Given the description of an element on the screen output the (x, y) to click on. 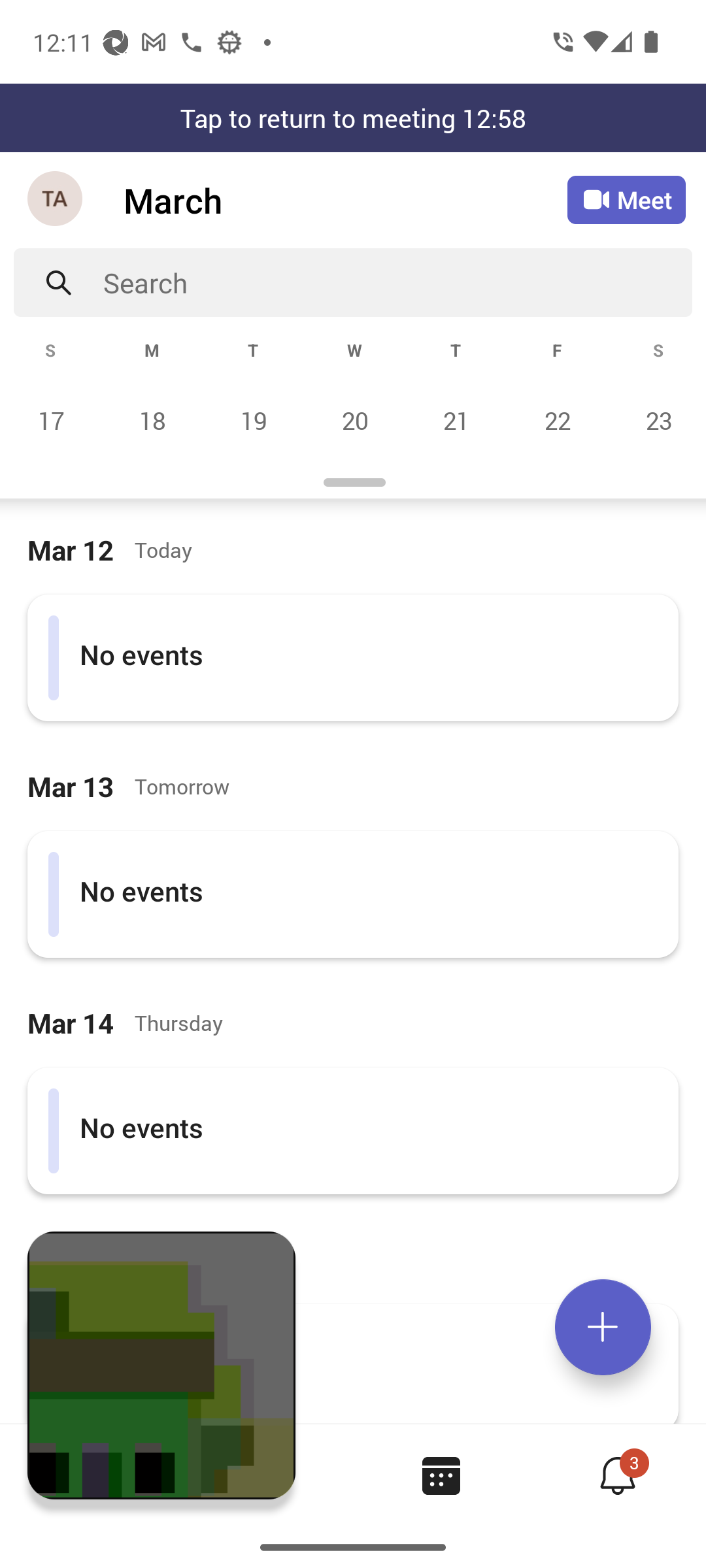
Tap to return to meeting 12:58 (353, 117)
Navigation (56, 199)
Meet Meet now or join with an ID (626, 199)
March March Calendar Agenda View (345, 199)
Search (397, 281)
Sunday, March 17 17 (50, 420)
Monday, March 18 18 (151, 420)
Tuesday, March 19 19 (253, 420)
Wednesday, March 20 20 (354, 420)
Thursday, March 21 21 (455, 420)
Friday, March 22 22 (556, 420)
Saturday, March 23 23 (656, 420)
Expand meetings menu (602, 1327)
Calendar tab, 3 of 4 (441, 1475)
Activity tab,4 of 4, not selected, 3 new 3 (617, 1475)
